Given the description of an element on the screen output the (x, y) to click on. 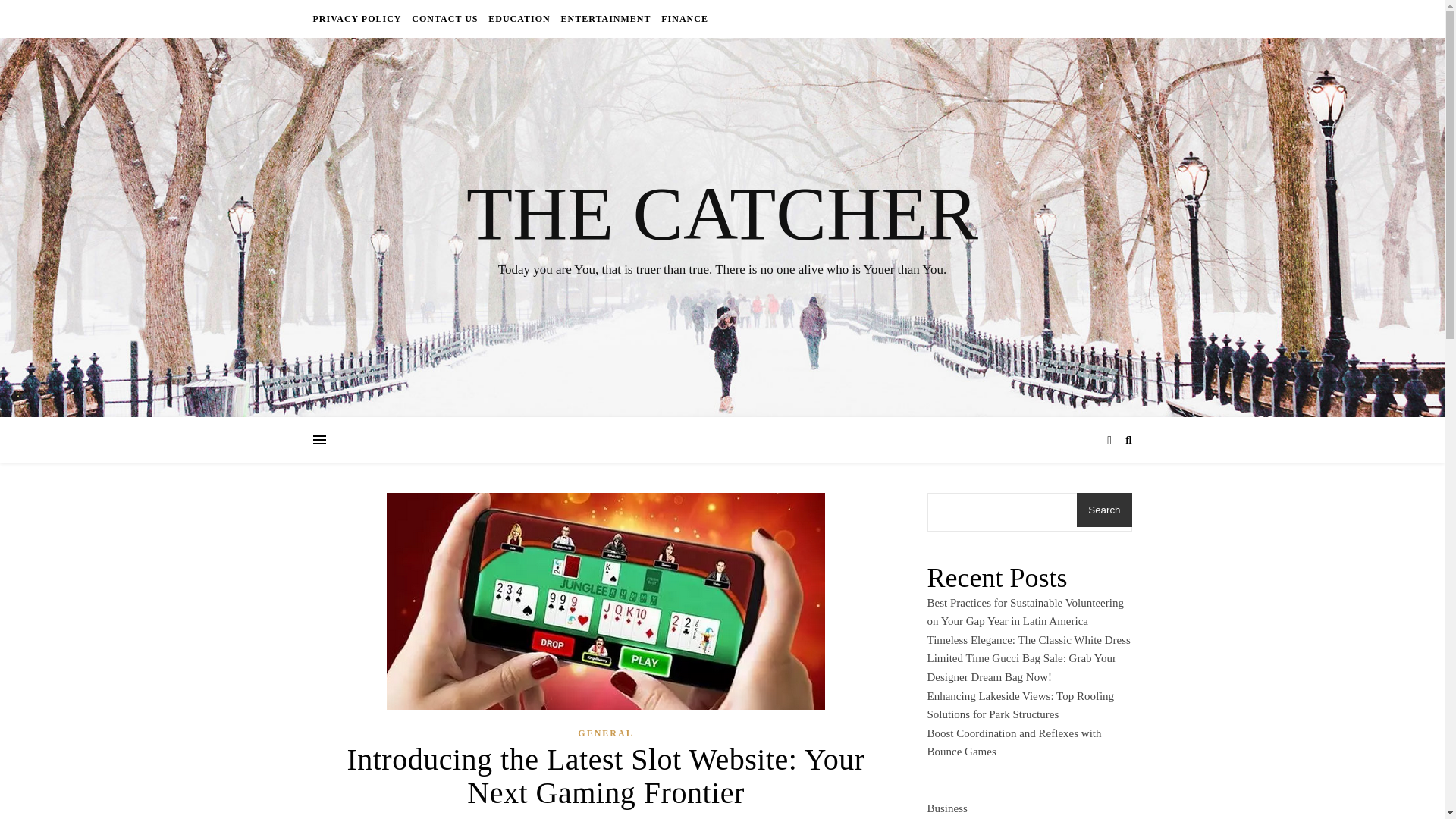
Timeless Elegance: The Classic White Dress (1027, 639)
CONTACT US (444, 18)
FINANCE (682, 18)
ENTERTAINMENT (604, 18)
EDUCATION (518, 18)
Business (946, 805)
GENERAL (605, 732)
